Given the description of an element on the screen output the (x, y) to click on. 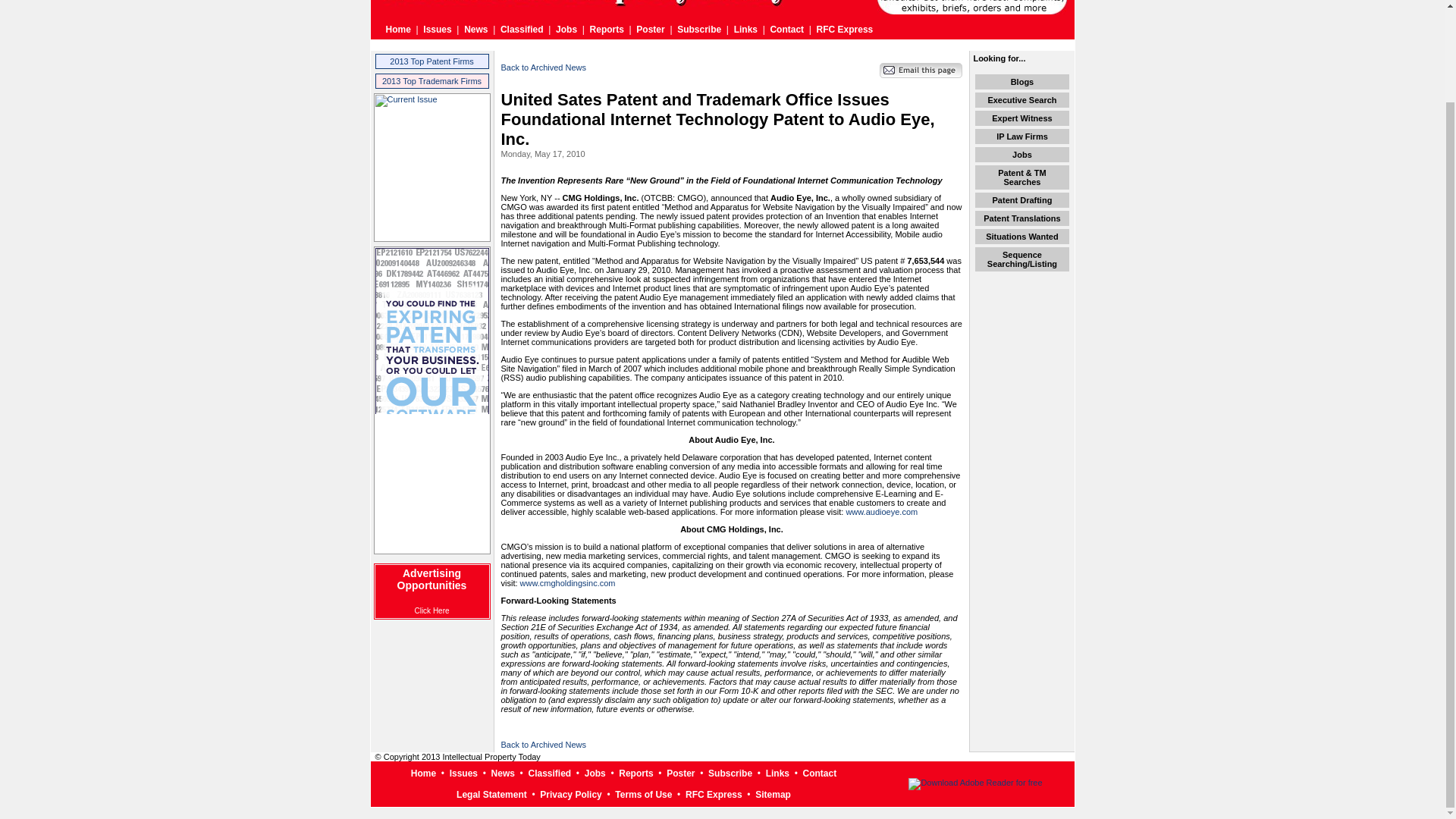
2013 Top Patent Firms (431, 61)
News (475, 29)
Expert Witness (1021, 117)
Back to Archived News (543, 744)
Jobs (566, 29)
Patent Drafting (1022, 199)
Links (745, 29)
Contact (786, 29)
Subscribe (698, 29)
Issues (437, 29)
